Given the description of an element on the screen output the (x, y) to click on. 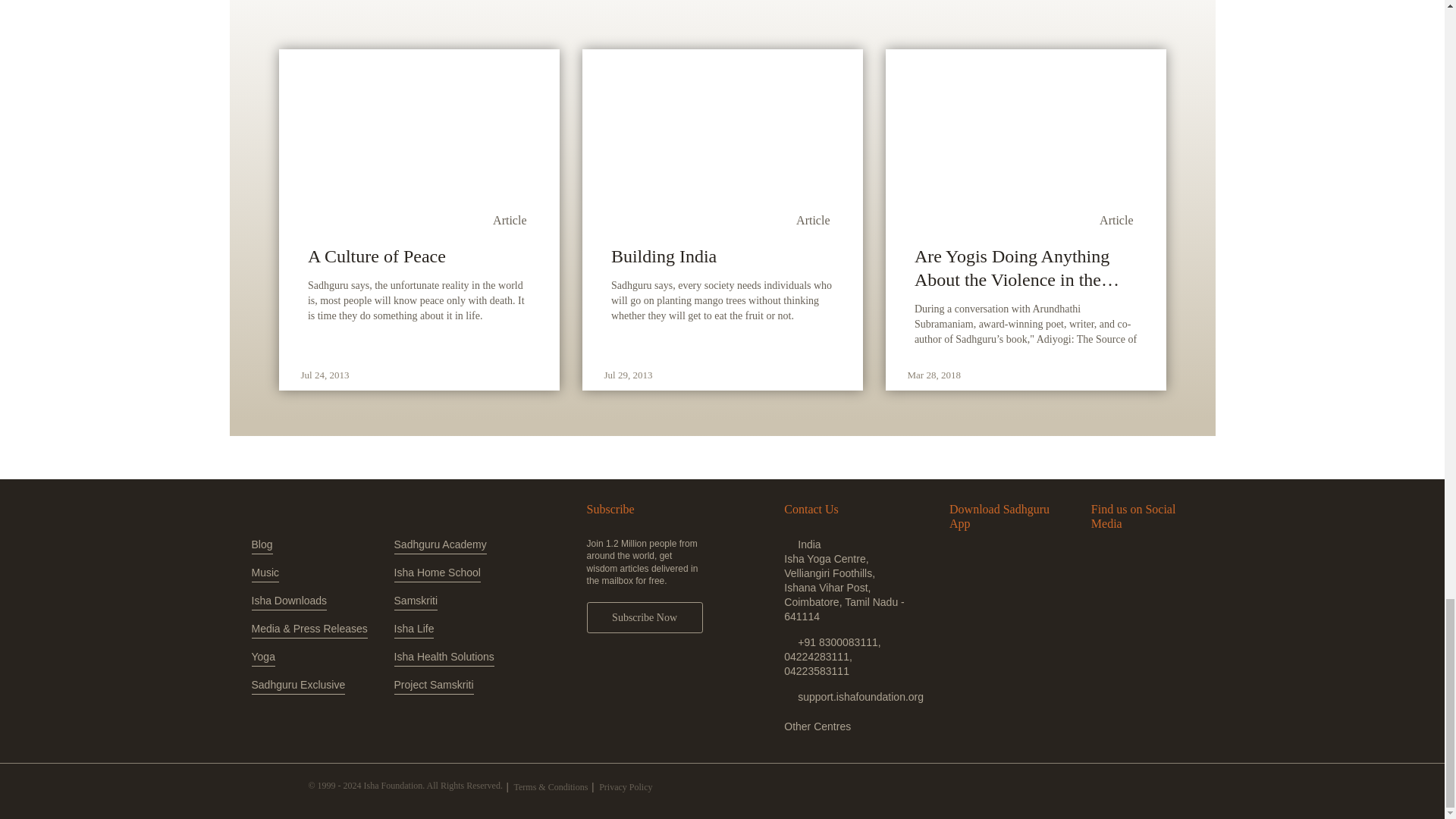
Are Yogis Doing Anything About the Violence in the World? (1025, 267)
Building India (721, 256)
A Culture of Peace (418, 256)
